Given the description of an element on the screen output the (x, y) to click on. 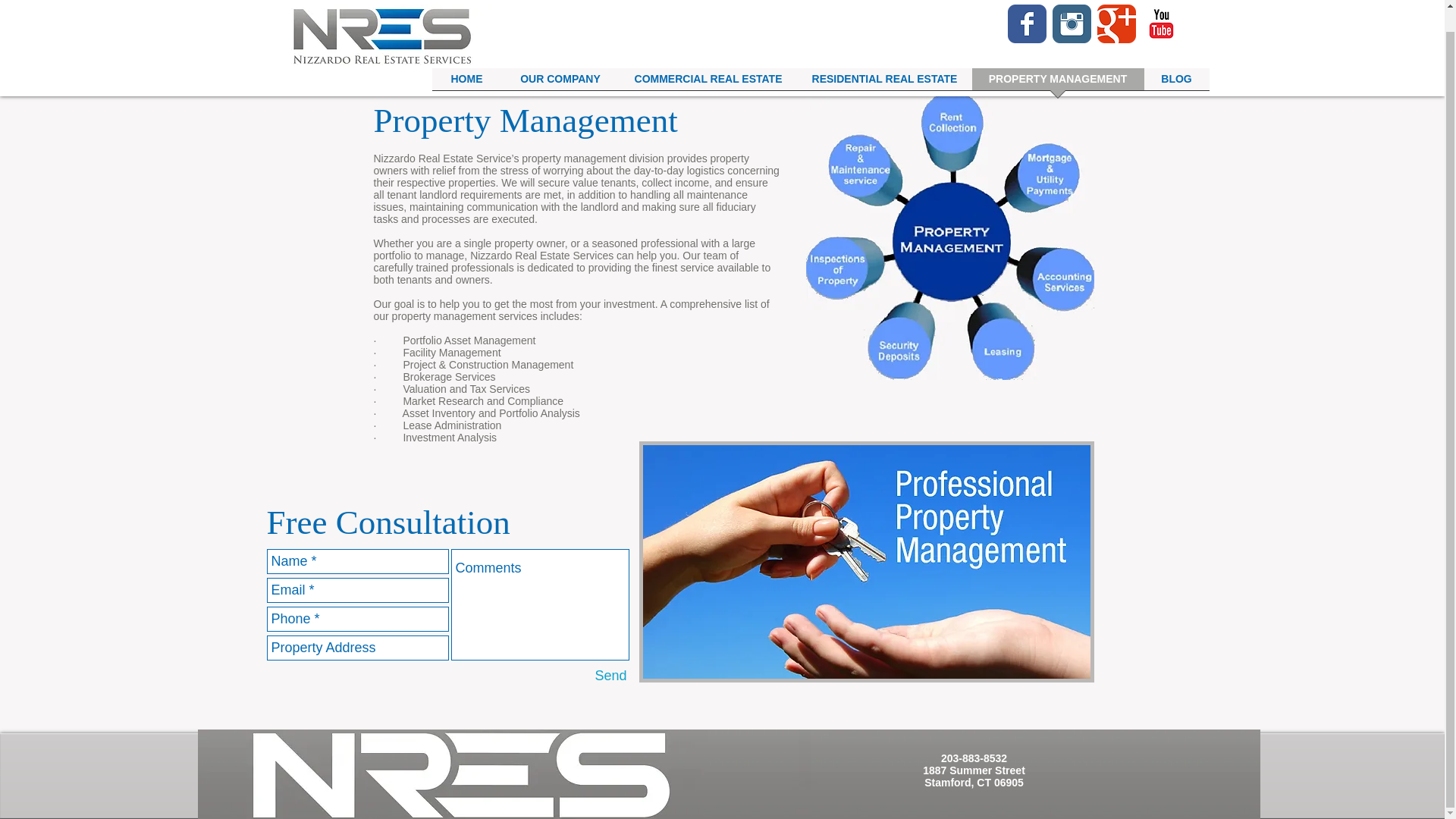
Send (610, 675)
NRES.jpg (382, 22)
BLOG (1175, 61)
HOME (467, 61)
Effective-Property-Management11-11.jpg (949, 235)
PROPERTY MANAGEMENT (1058, 61)
